Given the description of an element on the screen output the (x, y) to click on. 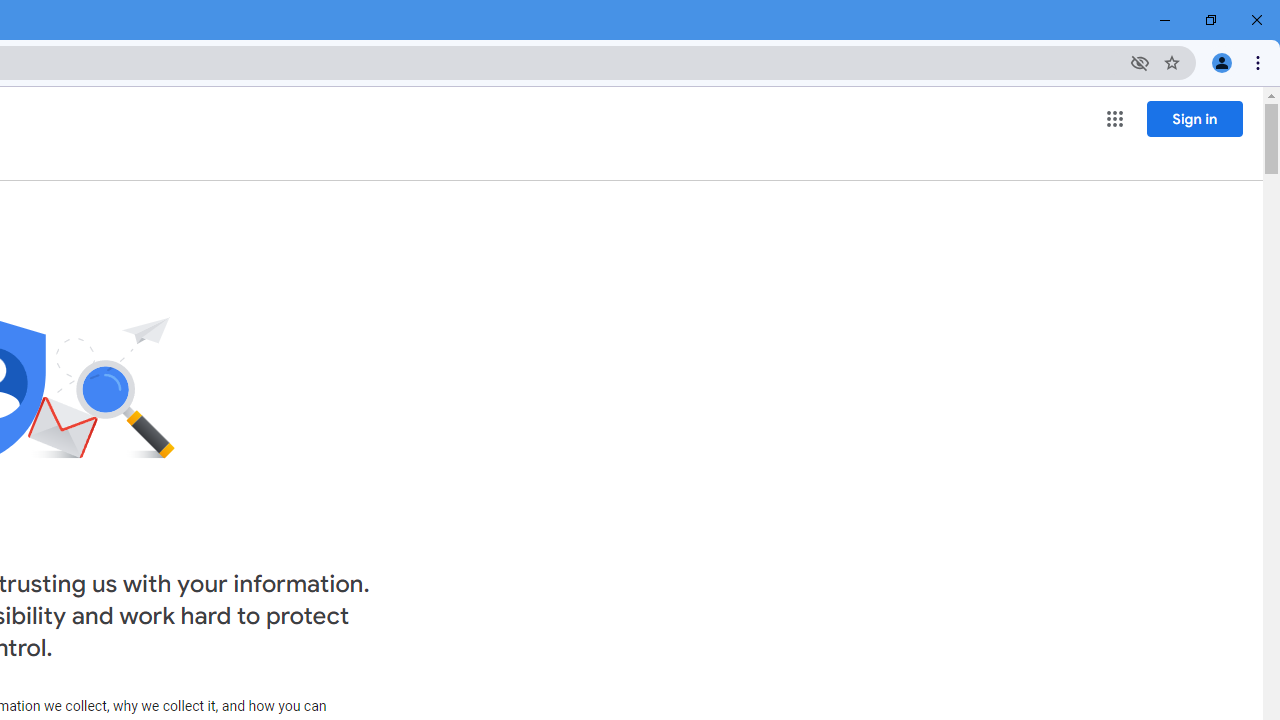
Third-party cookies blocked (1139, 62)
